Given the description of an element on the screen output the (x, y) to click on. 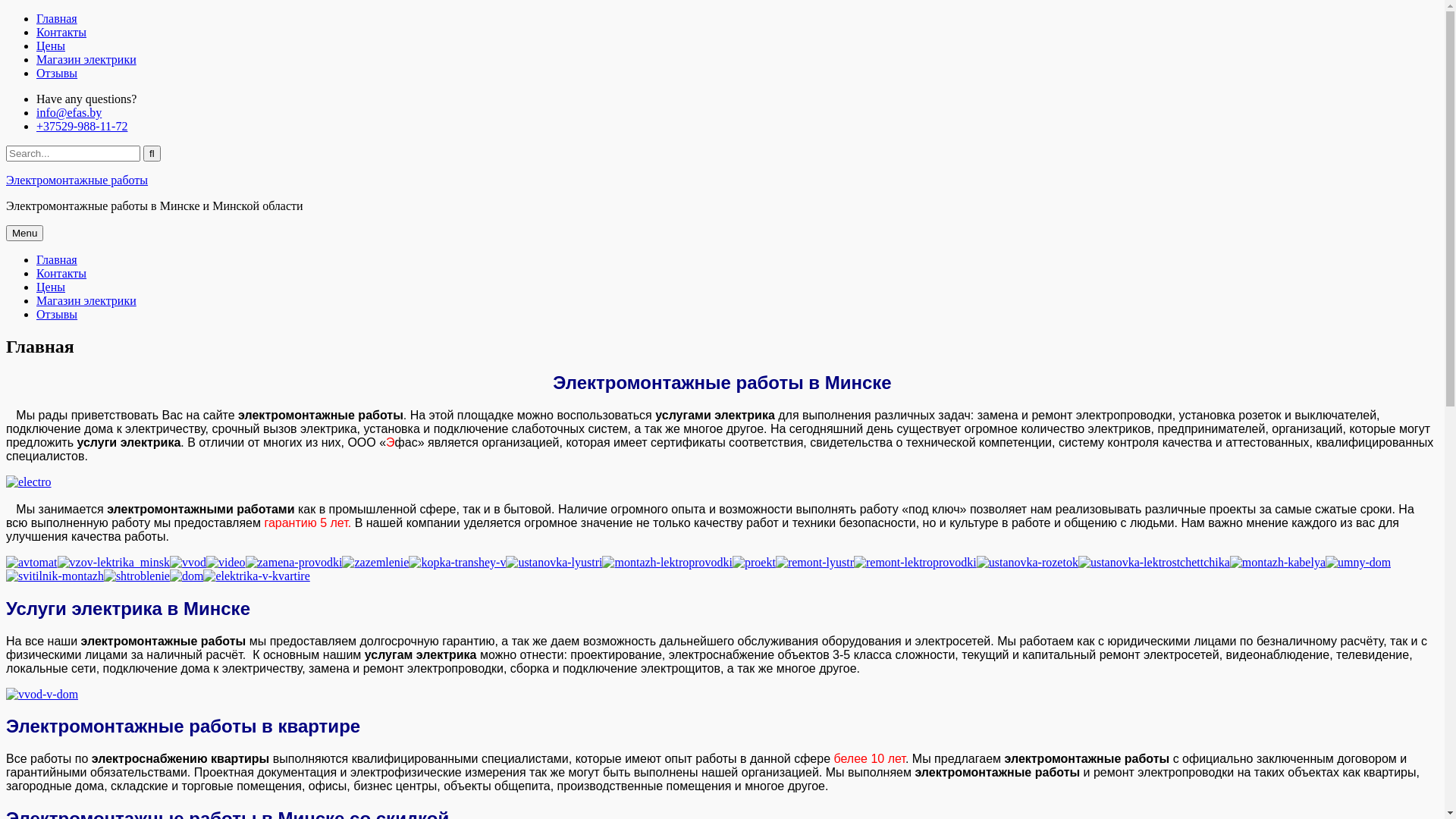
vvod-v-dom Element type: hover (42, 694)
info@efas.by Element type: text (68, 112)
Skip to content Element type: text (5, 11)
+37529-988-11-72 Element type: text (81, 125)
Search for: Element type: hover (73, 153)
electro Element type: hover (28, 482)
Menu Element type: text (24, 233)
